Given the description of an element on the screen output the (x, y) to click on. 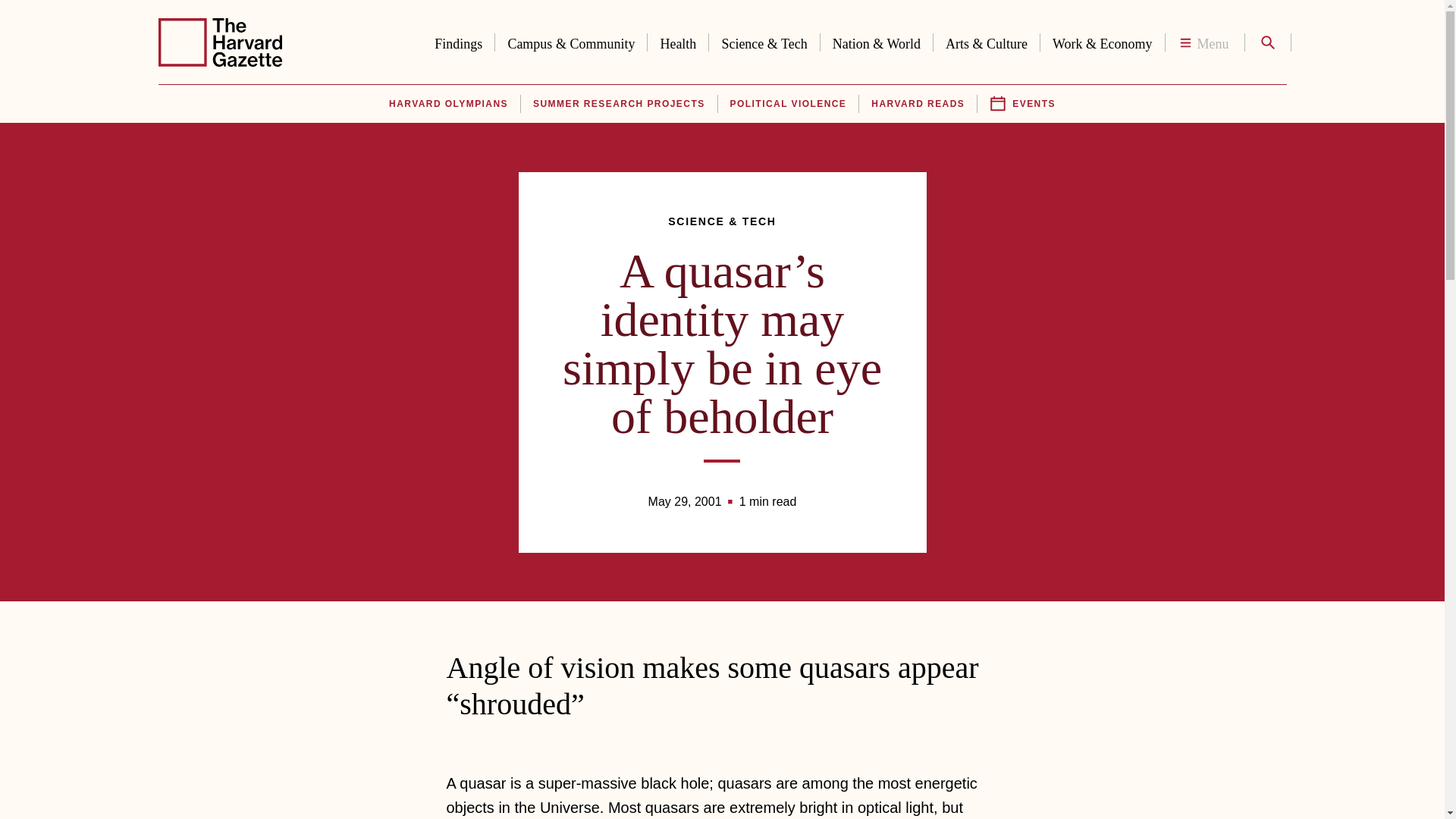
Menu (1204, 42)
Health (677, 41)
SUMMER RESEARCH PROJECTS (619, 103)
HARVARD OLYMPIANS (448, 103)
Findings (457, 41)
